Given the description of an element on the screen output the (x, y) to click on. 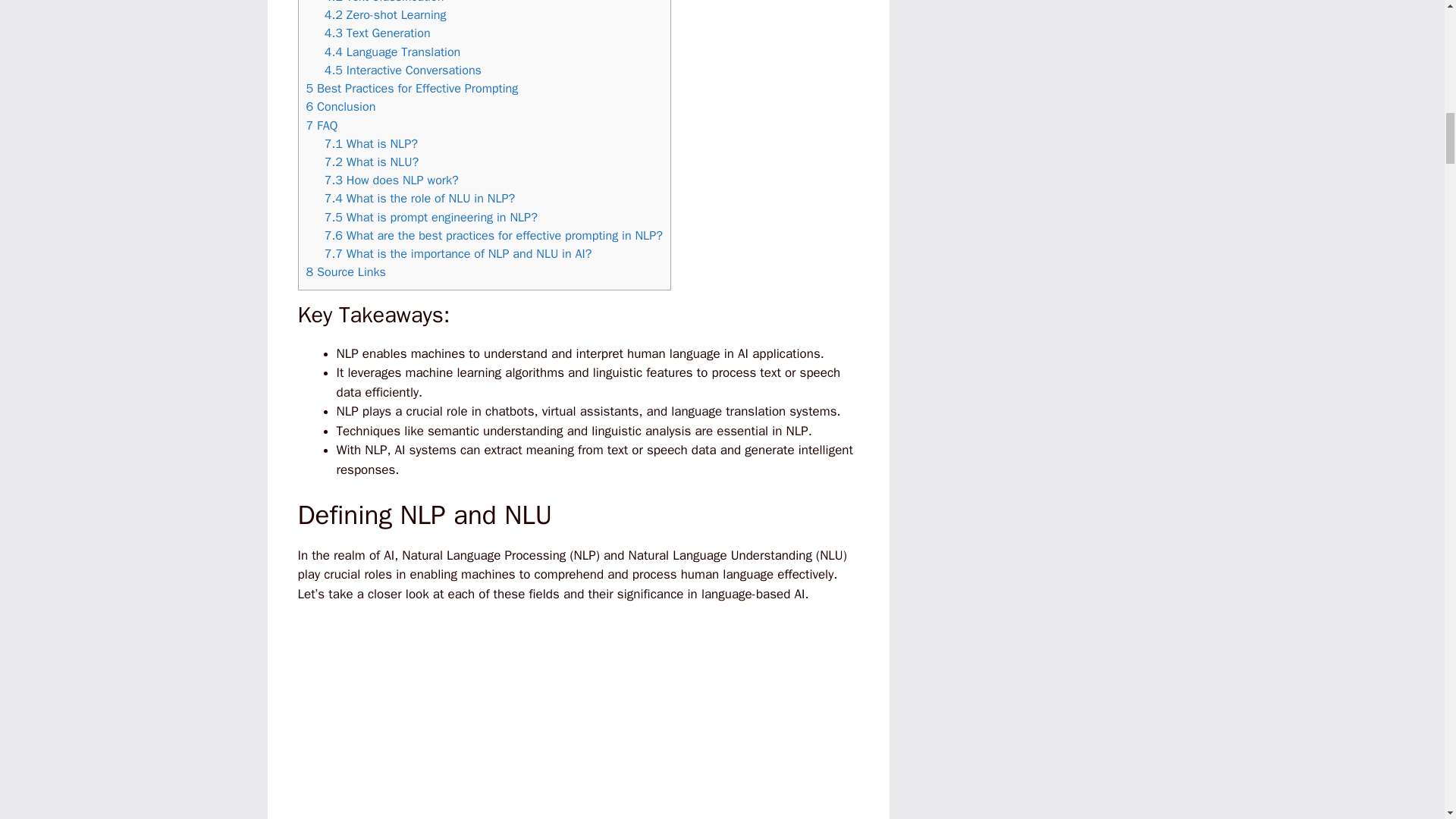
Advertisement (581, 721)
4.3 Text Generation (377, 32)
5 Best Practices for Effective Prompting (411, 88)
4.2 Zero-shot Learning (385, 14)
4.5 Interactive Conversations (402, 69)
6 Conclusion (340, 106)
4.4 Language Translation (392, 51)
4.1 Text Classification (384, 2)
